Given the description of an element on the screen output the (x, y) to click on. 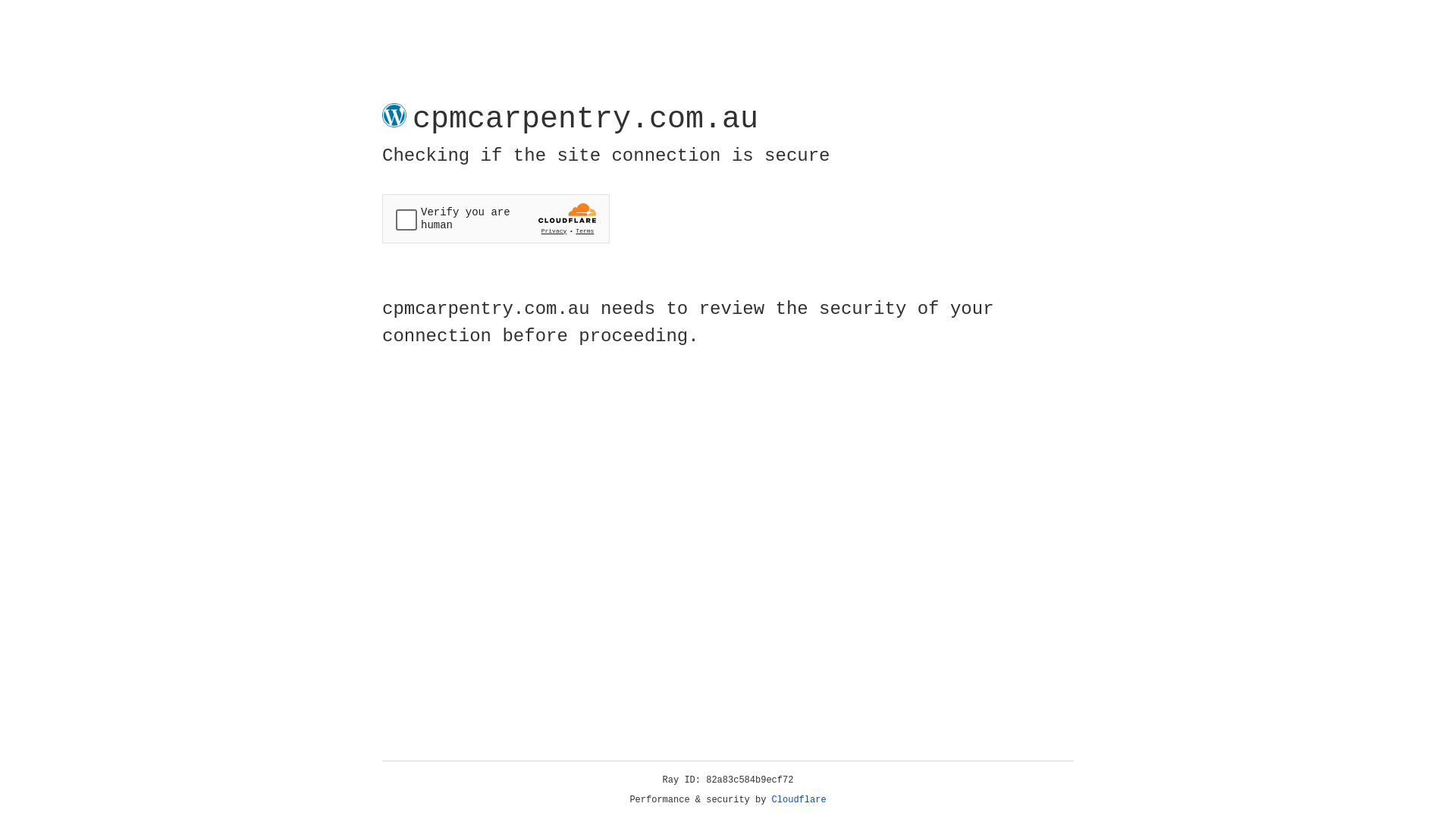
Cloudflare Element type: text (798, 799)
Widget containing a Cloudflare security challenge Element type: hover (495, 218)
